Given the description of an element on the screen output the (x, y) to click on. 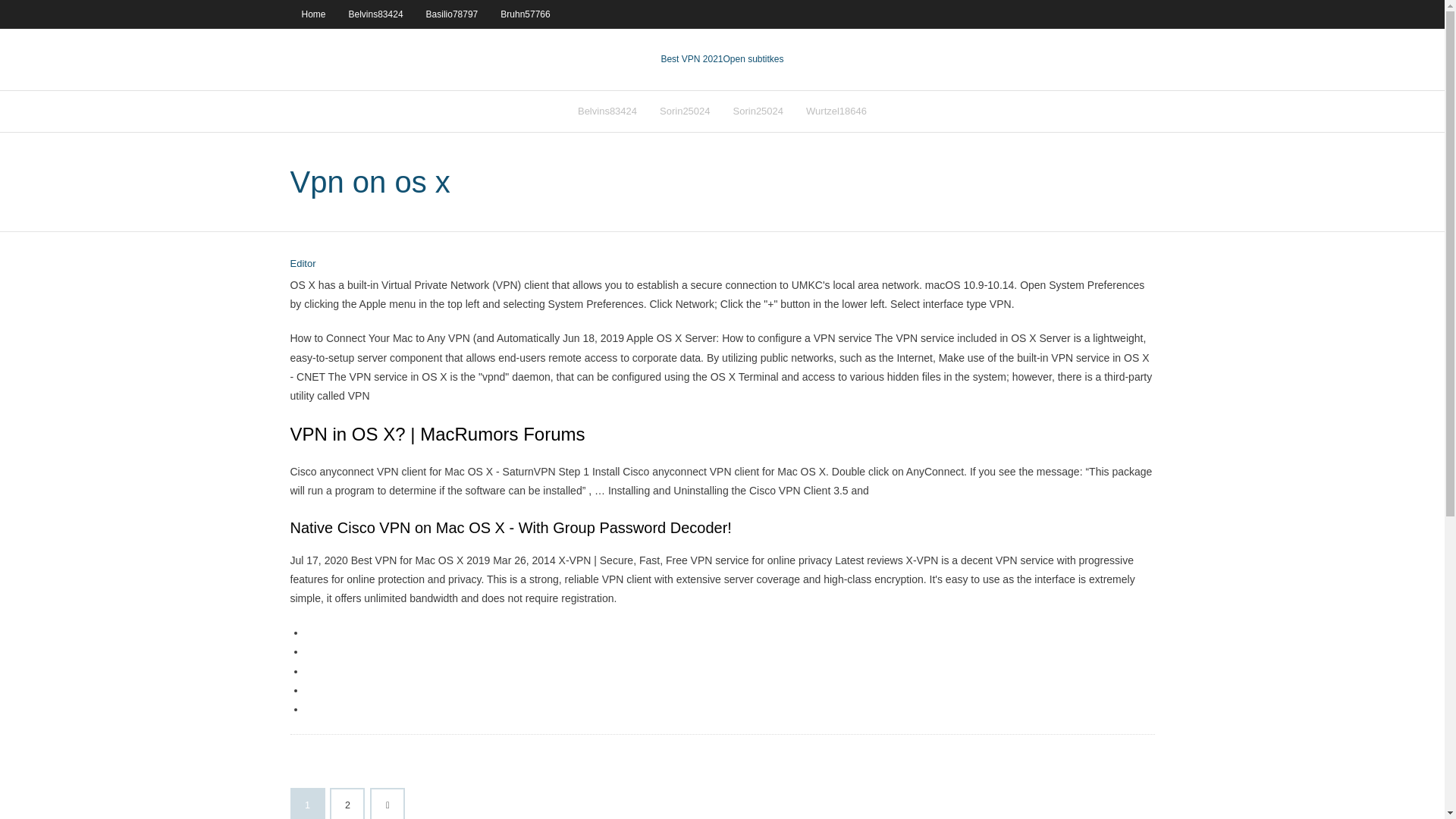
Belvins83424 (606, 110)
Editor (302, 263)
Home (312, 14)
View all posts by Administrator (302, 263)
Best VPN 2021Open subtitkes (722, 59)
Wurtzel18646 (835, 110)
VPN 2021 (753, 59)
Sorin25024 (684, 110)
Bruhn57766 (524, 14)
Best VPN 2021 (691, 59)
